Given the description of an element on the screen output the (x, y) to click on. 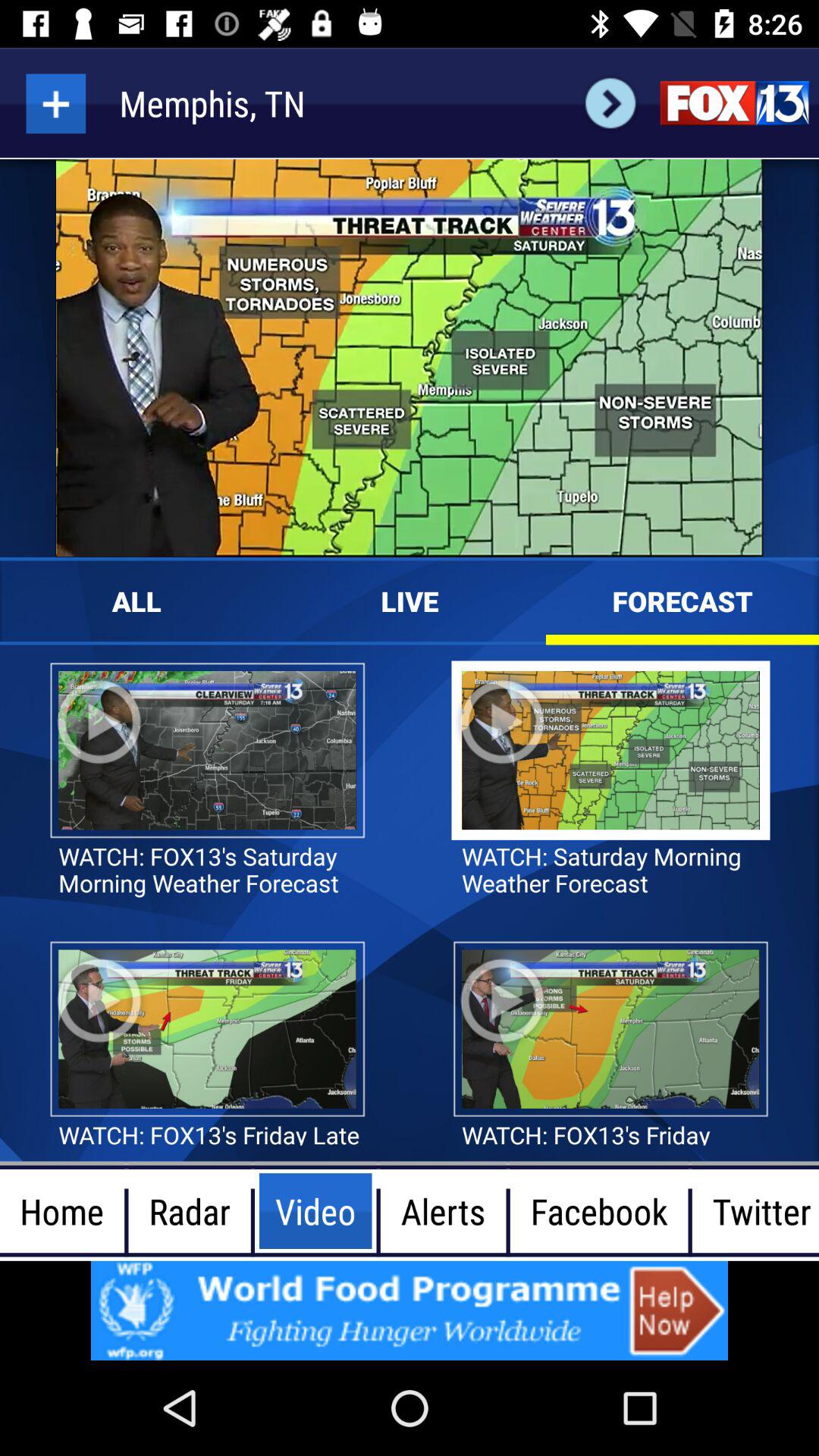
select image (409, 1310)
